Given the description of an element on the screen output the (x, y) to click on. 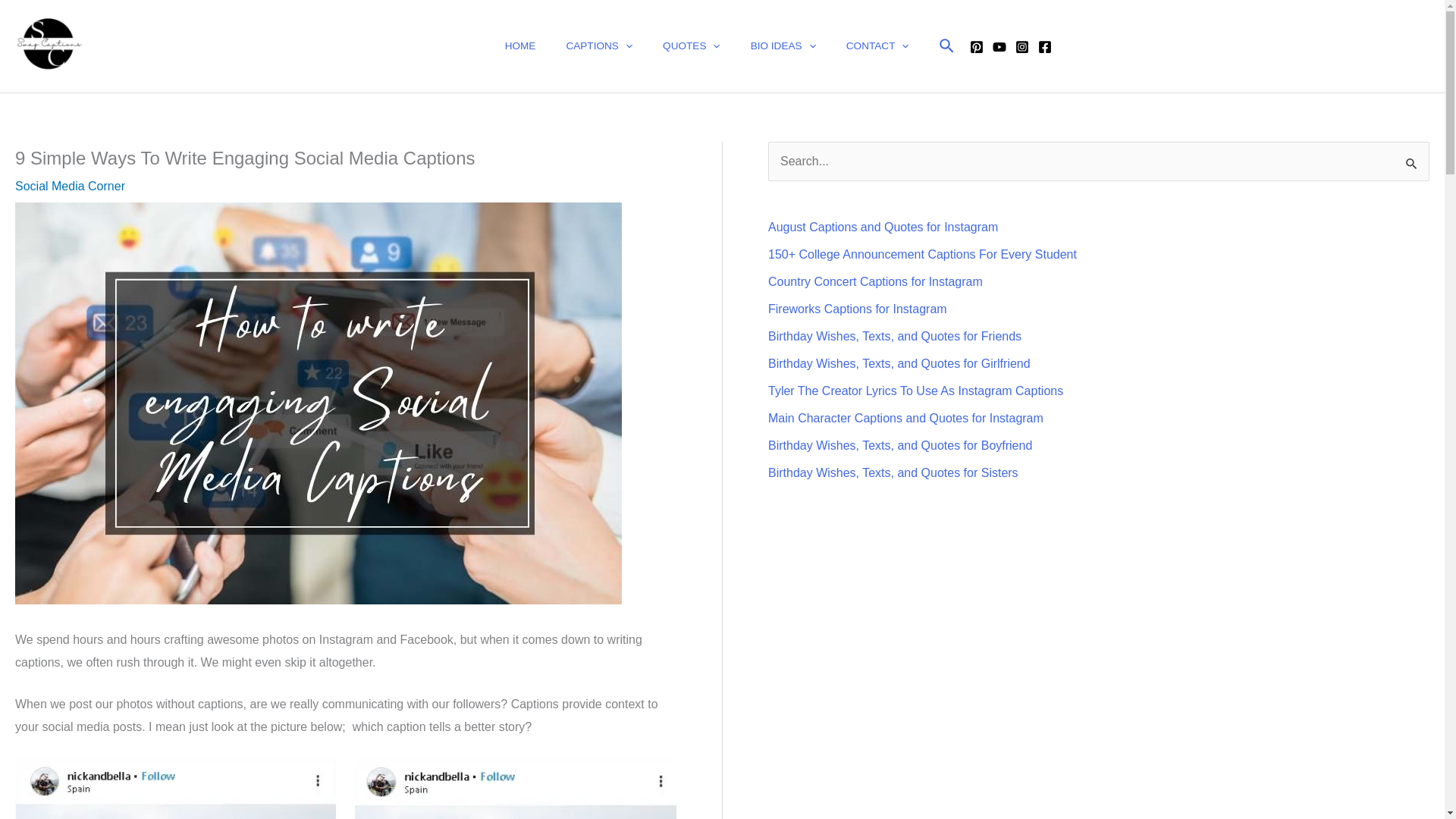
CAPTIONS (598, 45)
